Given the description of an element on the screen output the (x, y) to click on. 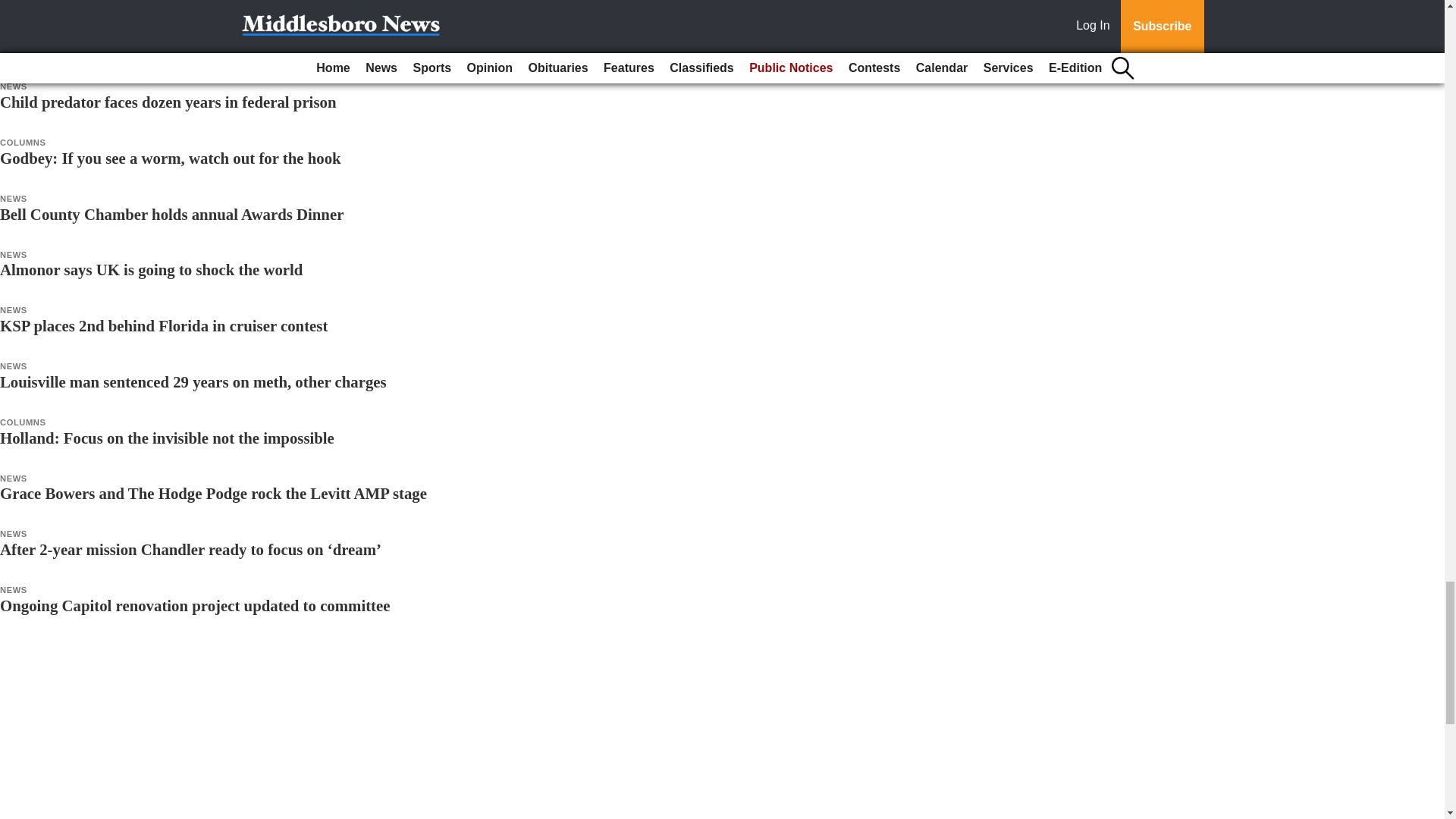
3 killed in multi-vehicle crash on I-24 in Livingston County (198, 45)
Child predator faces dozen years in federal prison (168, 101)
Almonor says UK is going to shock the world (151, 269)
Godbey: If you see a worm, watch out for the hook (170, 158)
Bell County Chamber holds annual Awards Dinner (171, 213)
KSP places 2nd behind Florida in cruiser contest (163, 325)
